Given the description of an element on the screen output the (x, y) to click on. 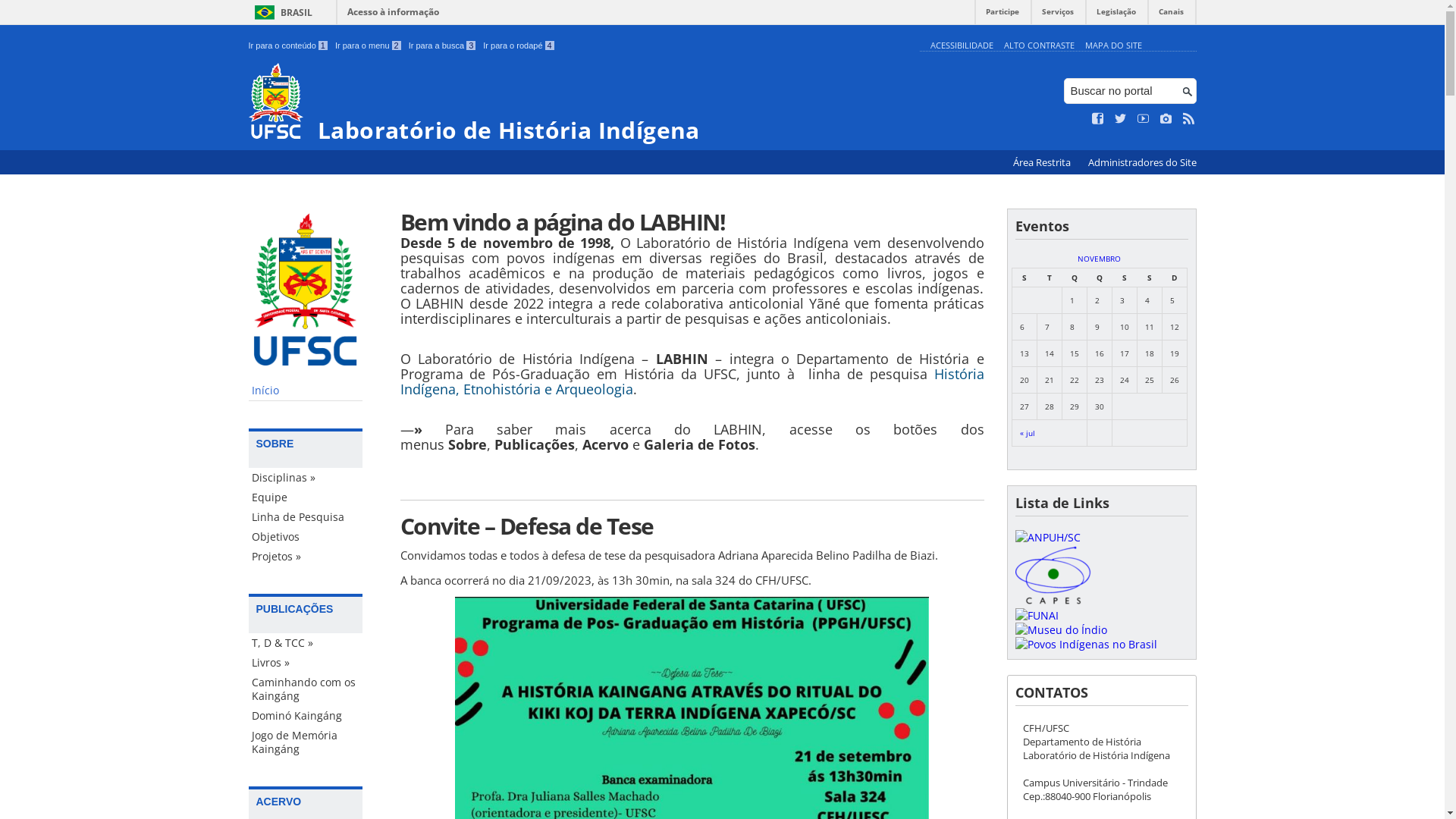
Ir para a busca 3 Element type: text (442, 45)
Linha de Pesquisa Element type: text (305, 517)
Ir para o menu 2 Element type: text (368, 45)
ACESSIBILIDADE Element type: text (960, 44)
Administradores do Site Element type: text (1141, 162)
NOVEMBRO Element type: text (1098, 258)
Curta no Facebook Element type: hover (1098, 118)
BRASIL Element type: text (280, 12)
Veja no Instagram Element type: hover (1166, 118)
MAPA DO SITE Element type: text (1112, 44)
ALTO CONTRASTE Element type: text (1039, 44)
Participe Element type: text (1002, 15)
Siga no Twitter Element type: hover (1120, 118)
Equipe Element type: text (305, 497)
Canais Element type: text (1171, 15)
Objetivos Element type: text (305, 536)
